Given the description of an element on the screen output the (x, y) to click on. 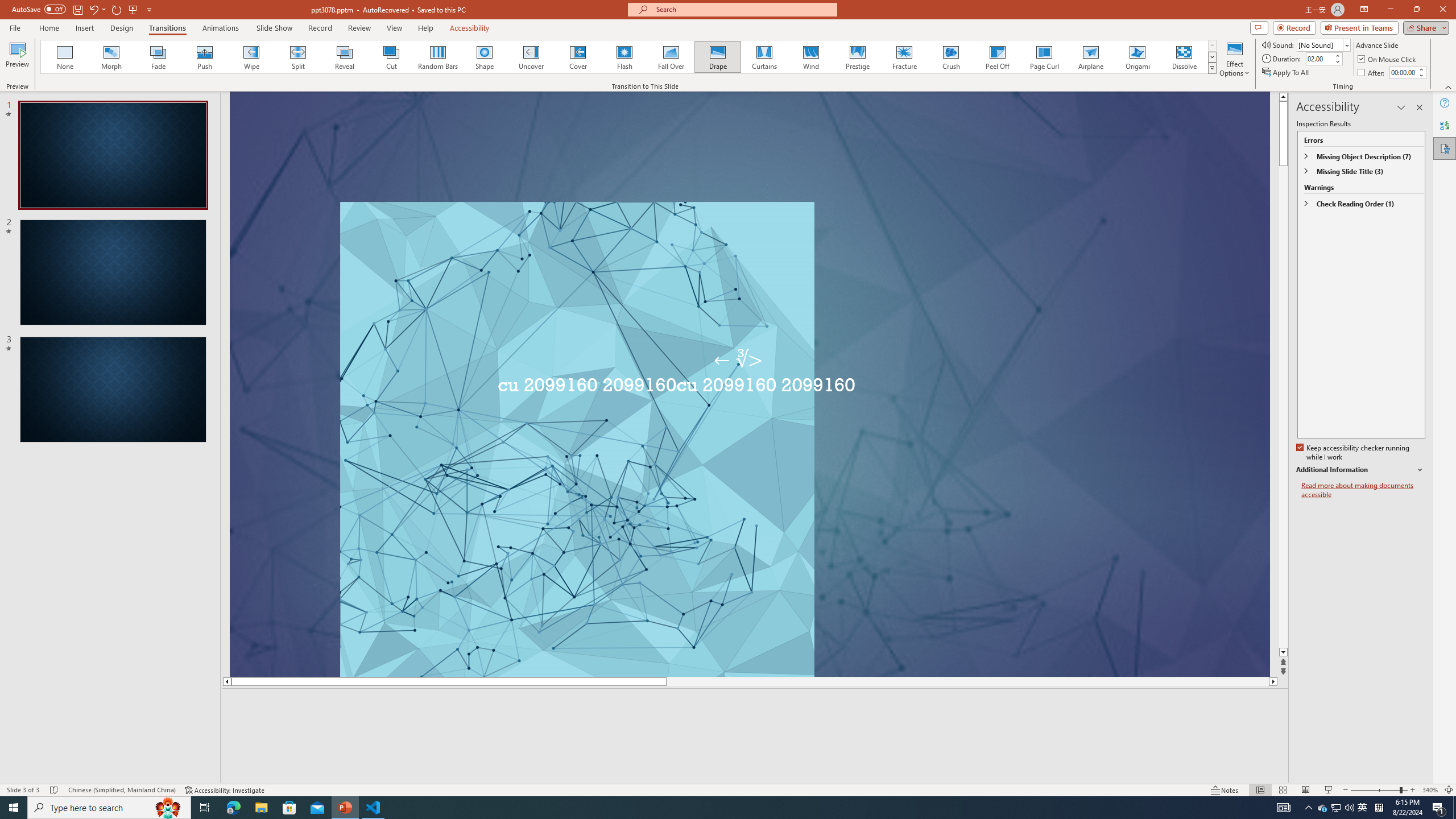
Duration (1319, 58)
Peel Off (997, 56)
Curtains (764, 56)
Prestige (857, 56)
